Given the description of an element on the screen output the (x, y) to click on. 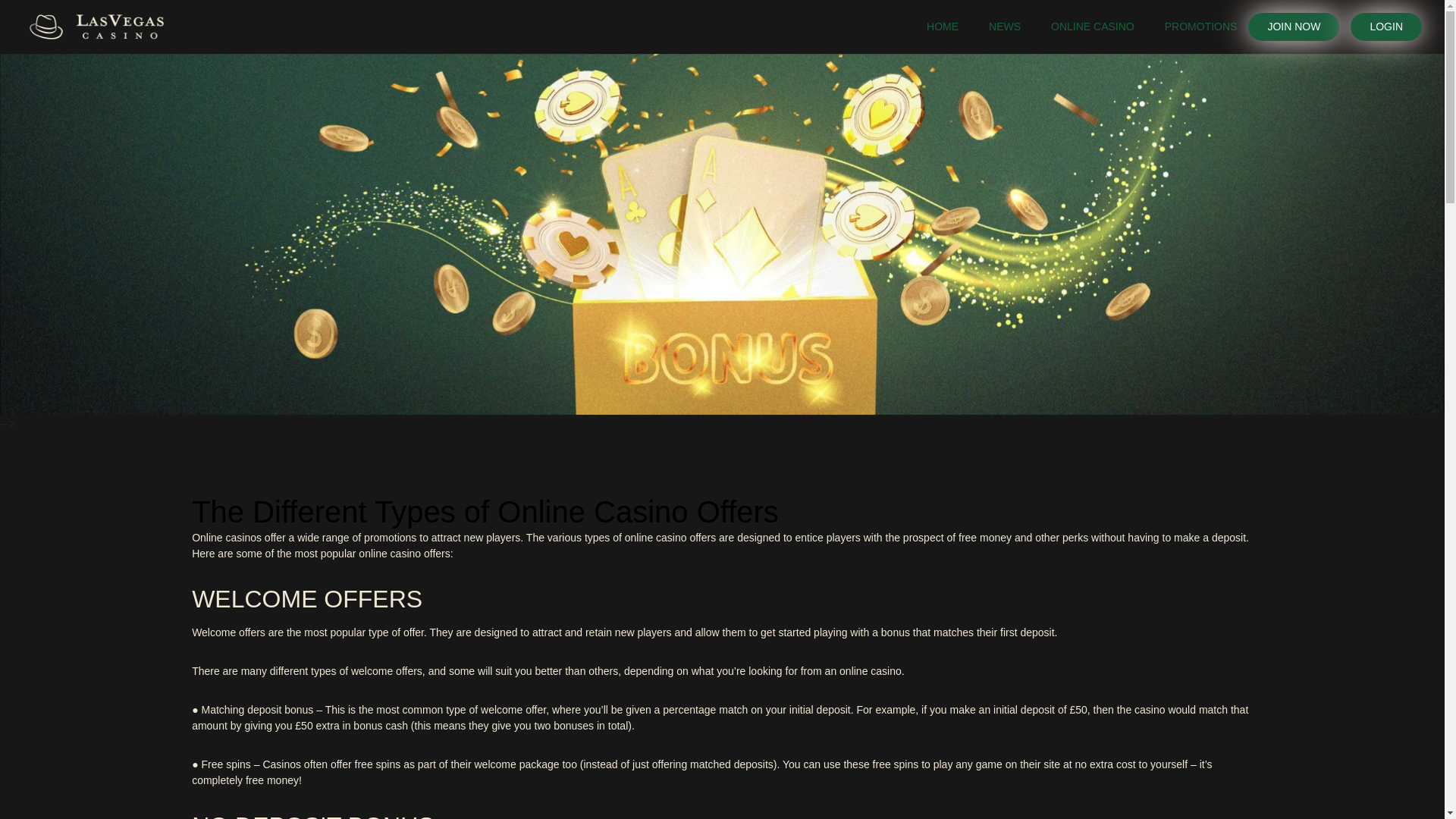
Join Now (1293, 26)
ONLINE CASINO (1092, 26)
LOGIN (1386, 26)
JOIN NOW (1293, 26)
NEWS (1004, 26)
HOME (942, 26)
PROMOTIONS (1200, 26)
login (1386, 26)
